Given the description of an element on the screen output the (x, y) to click on. 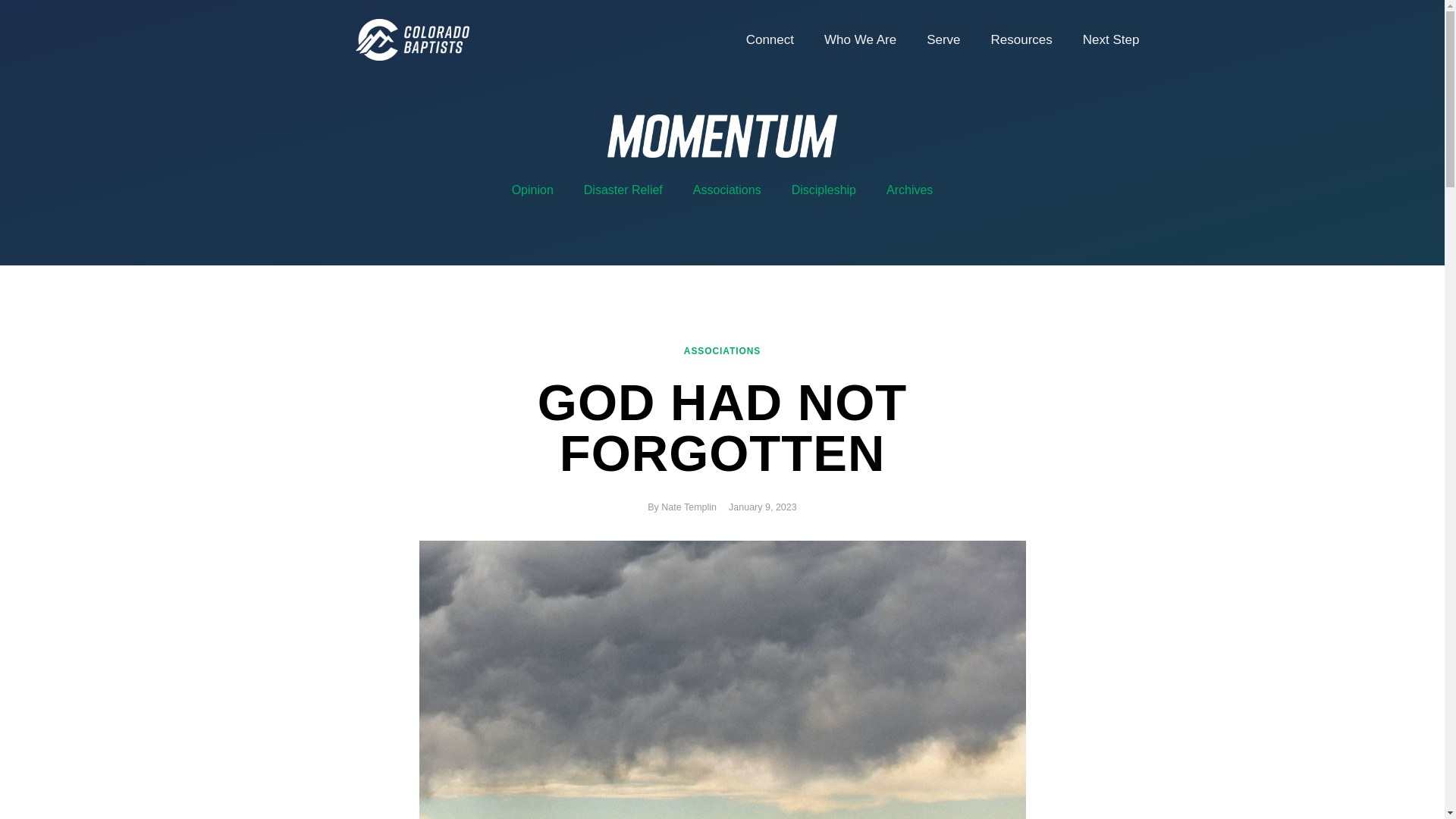
Who We Are (860, 38)
Next Step (1110, 38)
Connect (769, 38)
Resources (1021, 38)
